Given the description of an element on the screen output the (x, y) to click on. 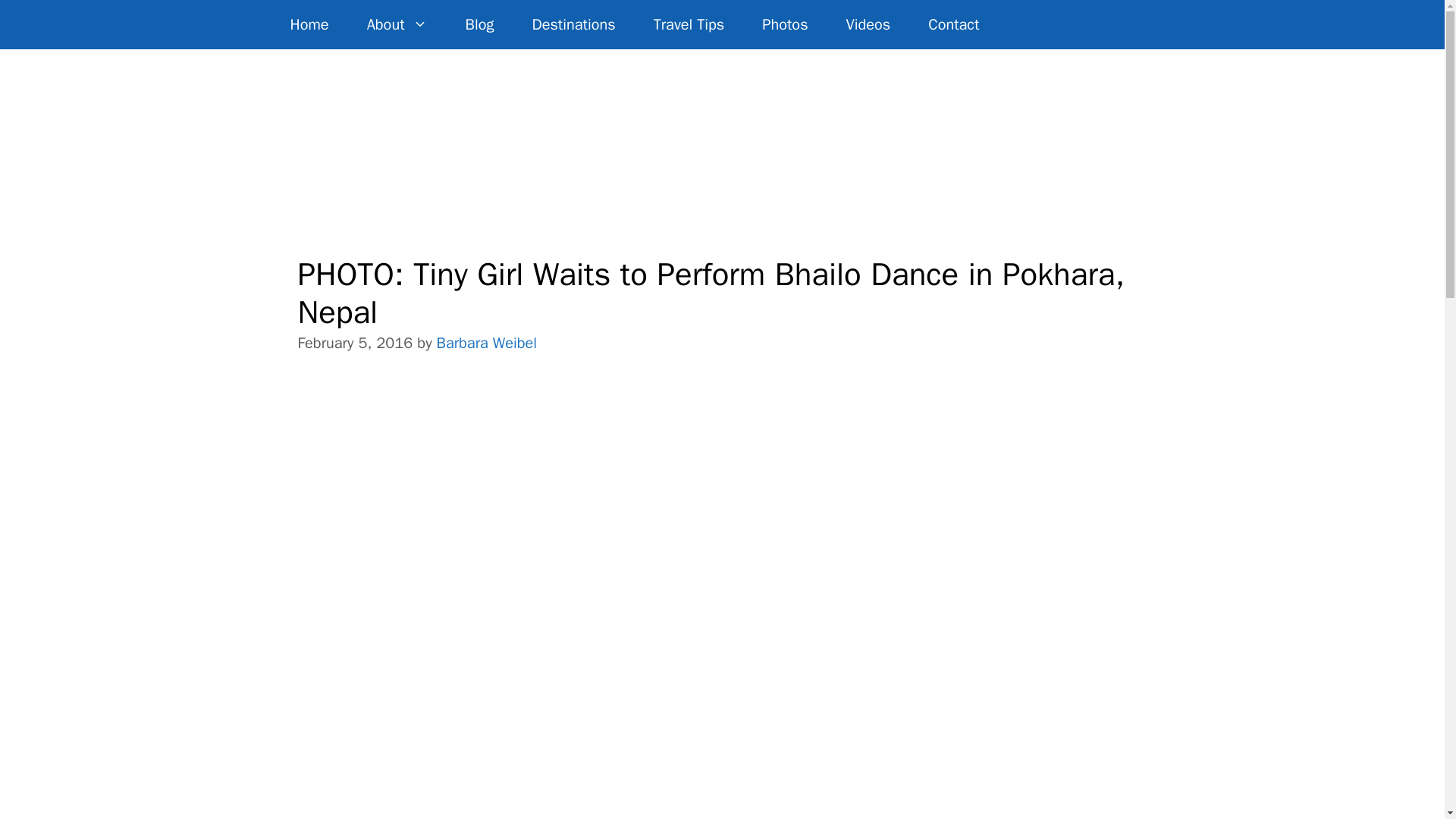
Videos (868, 24)
About (396, 24)
Photos (784, 24)
View all posts by Barbara Weibel (486, 342)
Barbara Weibel (486, 342)
Blog (479, 24)
Travel Tips (688, 24)
Home (308, 24)
Contact (952, 24)
Destinations (573, 24)
